Given the description of an element on the screen output the (x, y) to click on. 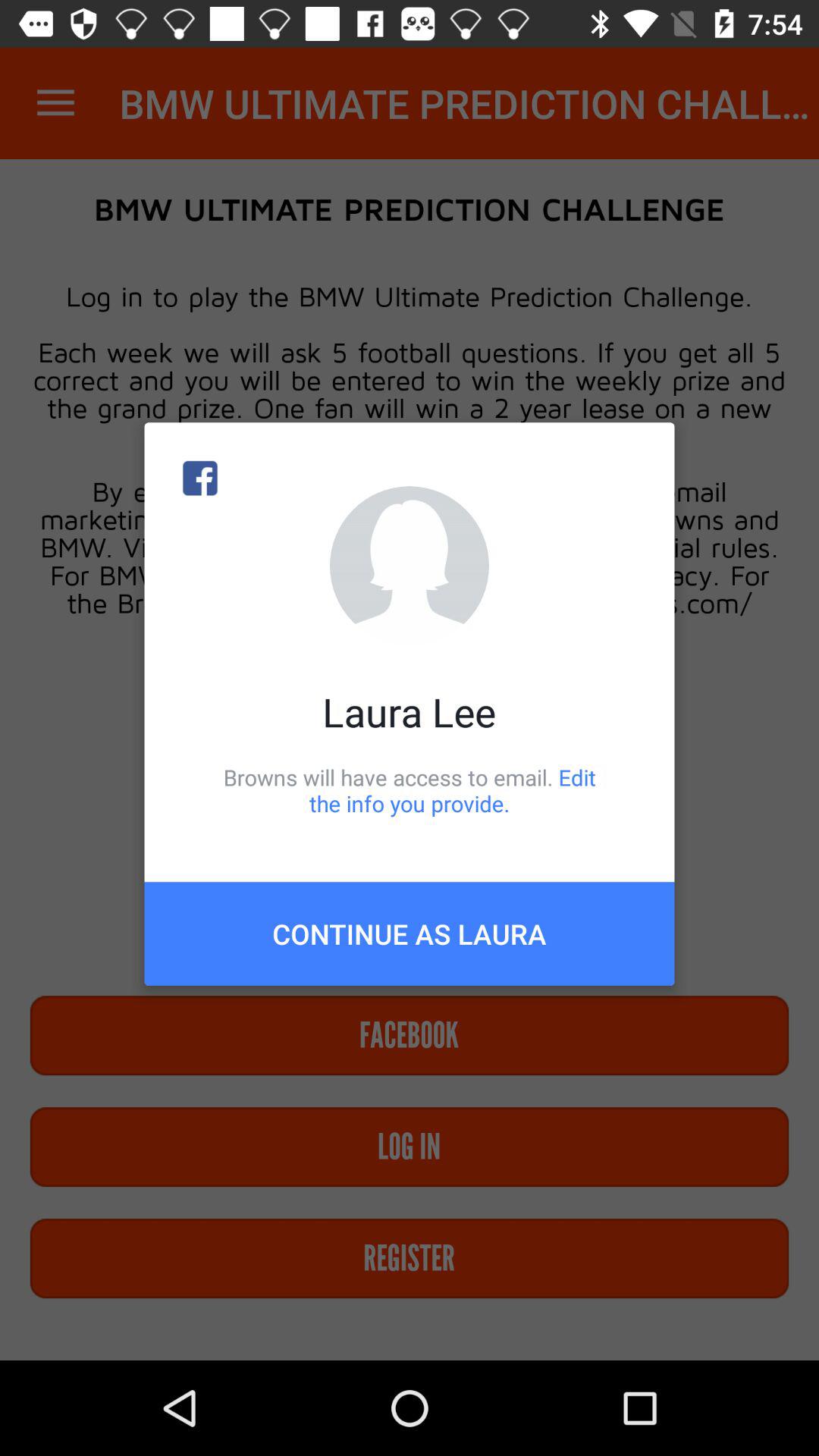
open browns will have (409, 790)
